Given the description of an element on the screen output the (x, y) to click on. 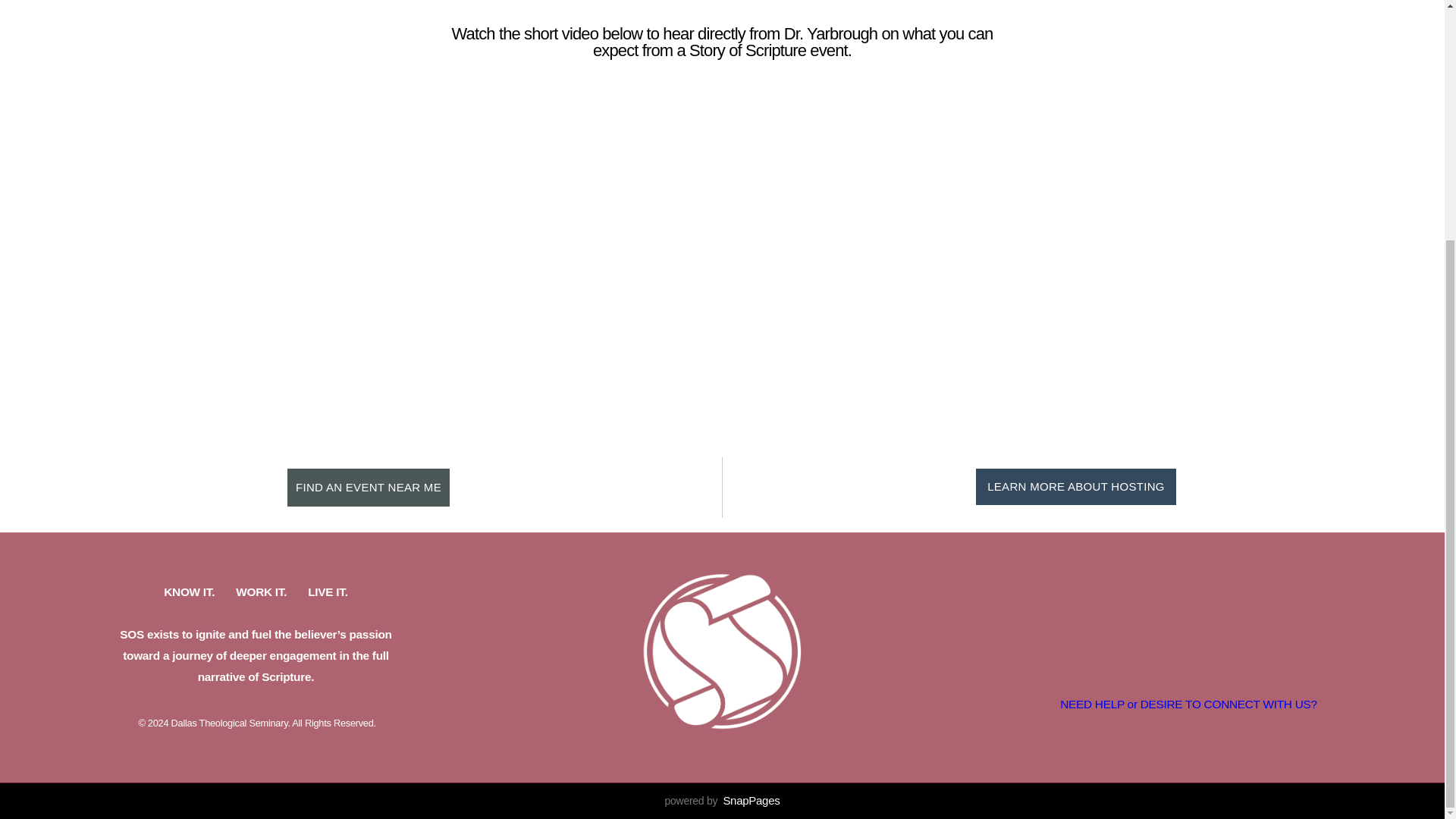
powered by  SnapPages (722, 800)
powered by SnapPages Website Builder (722, 800)
FIND AN EVENT NEAR ME (367, 487)
NEED HELP or DESIRE TO CONNECT WITH US? (1188, 703)
LEARN MORE ABOUT HOSTING (1075, 486)
